Given the description of an element on the screen output the (x, y) to click on. 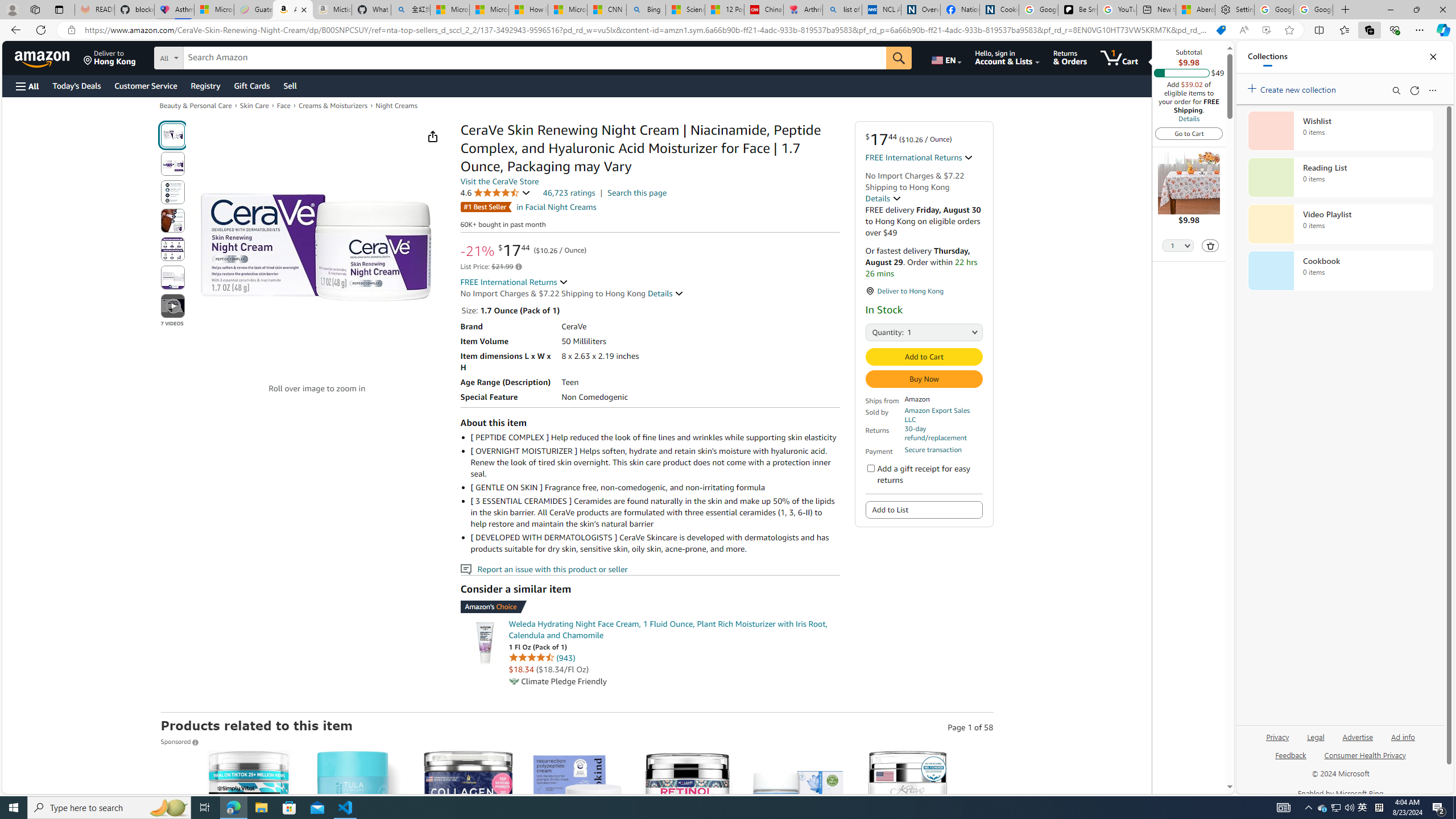
Face (283, 105)
Buy Now (924, 379)
Microsoft Start (567, 9)
Favorites (1344, 29)
Privacy (1277, 741)
Amazon Export Sales LLC (936, 414)
App bar (728, 29)
Delete (1210, 245)
12 Popular Science Lies that Must be Corrected (724, 9)
